Given the description of an element on the screen output the (x, y) to click on. 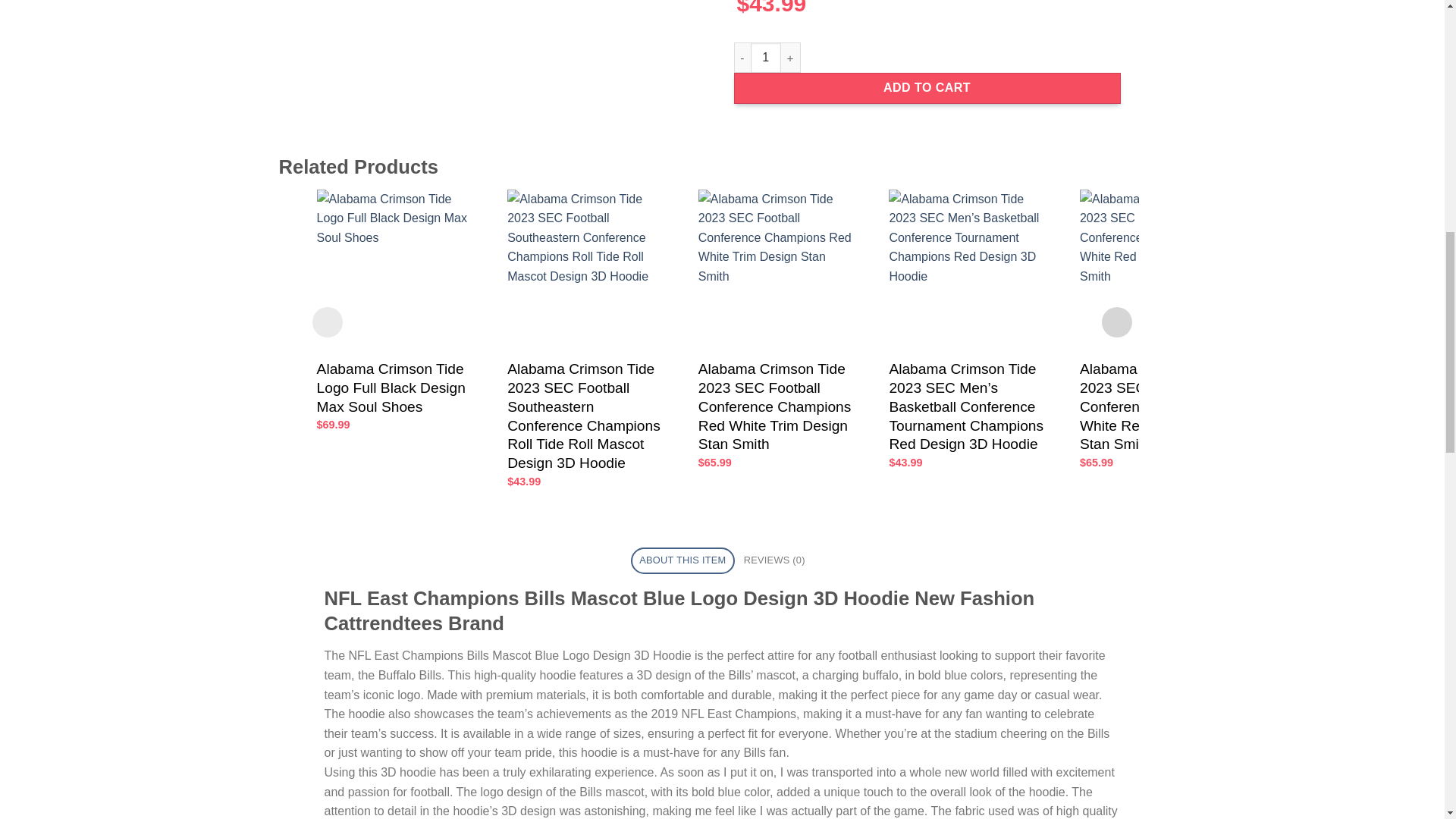
- (742, 57)
Alabama Crimson Tide Logo Full Black Design Max Soul Shoes (397, 388)
1 (765, 57)
